Given the description of an element on the screen output the (x, y) to click on. 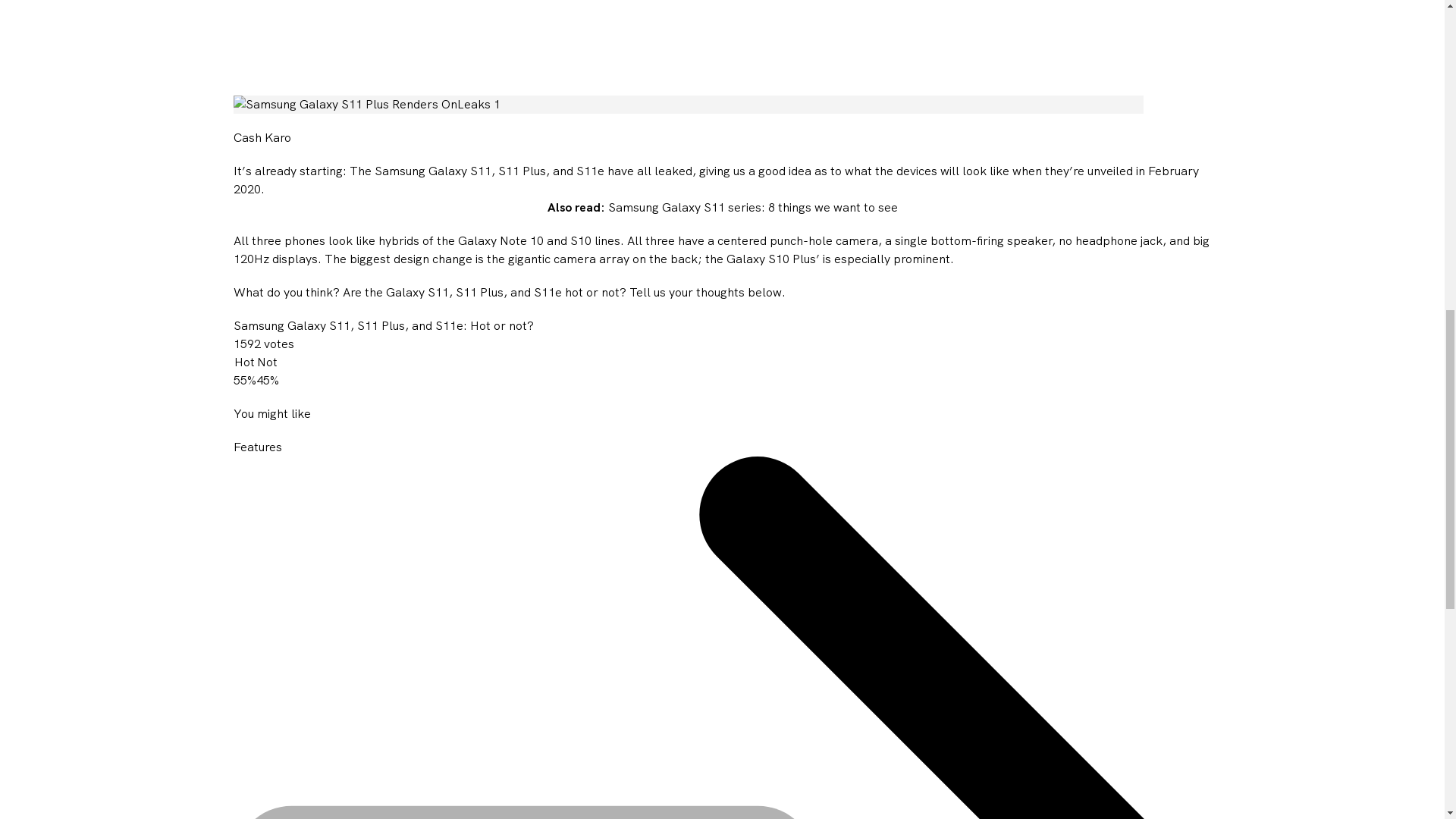
Cash Karo (261, 137)
Galaxy Note 10 (500, 240)
S10 (580, 240)
S11 Plus (520, 171)
120Hz displays (274, 259)
Samsung Galaxy S11 series: 8 things we want to see (753, 208)
gigantic camera array (568, 259)
Features (257, 447)
Samsung Galaxy S11 Plus Renders OnLeaks 1 (687, 104)
S11e (590, 171)
